Given the description of an element on the screen output the (x, y) to click on. 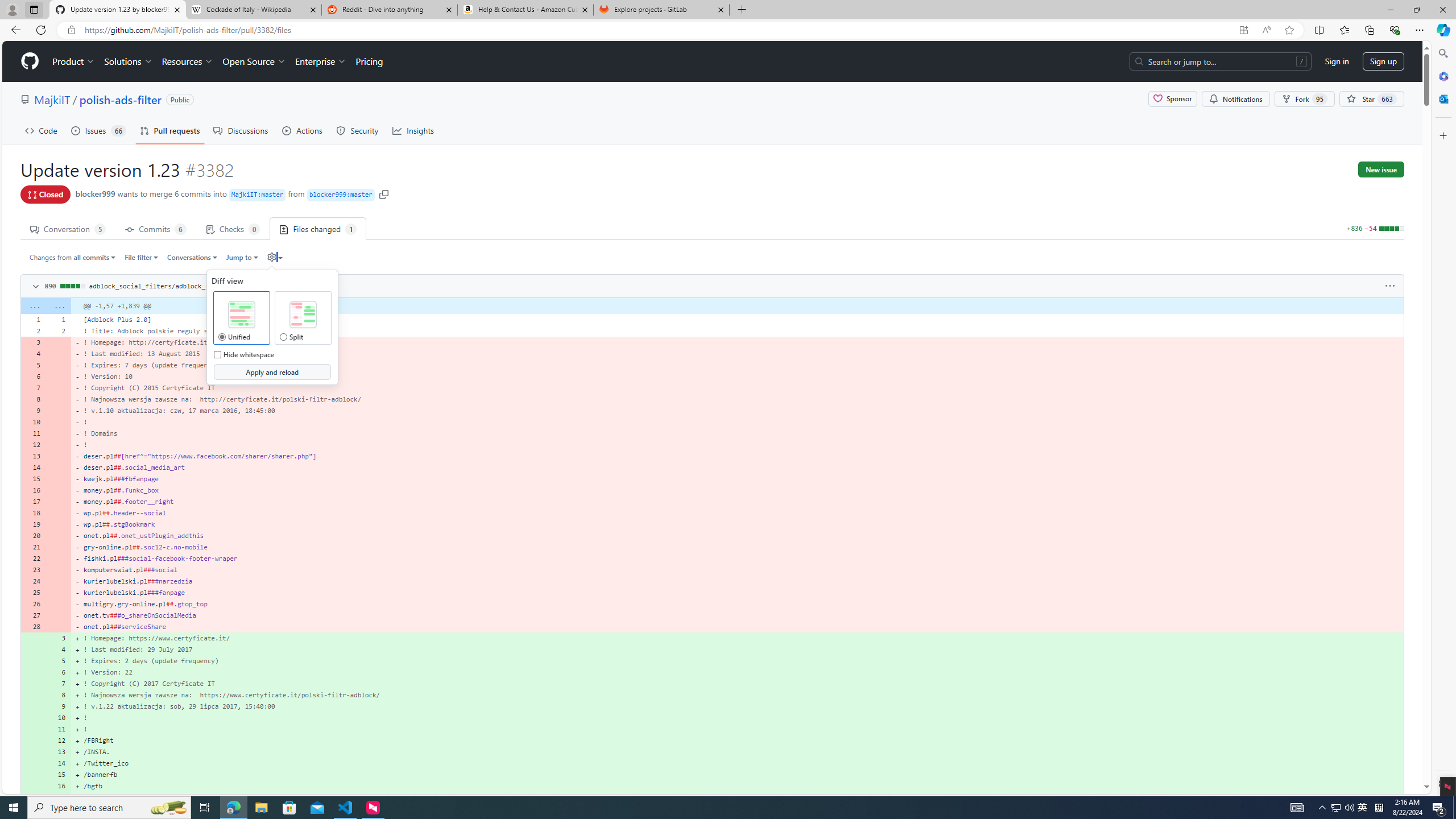
Discussions (240, 130)
- ! Expires: 7 days (update frequency)  (737, 365)
File filter (141, 257)
Jump to (241, 257)
+ /bannerfb  (737, 774)
- deser.pl##.social_media_art (737, 467)
Pricing (368, 60)
Hide whitespace (216, 354)
- onet.tv###o_shareOnSocialMedia (737, 614)
6 (58, 672)
adblock_social_filters/adblock_social_list.txt (175, 285)
- onet.pl##.onet_ustPlugin_addthis (737, 535)
